Given the description of an element on the screen output the (x, y) to click on. 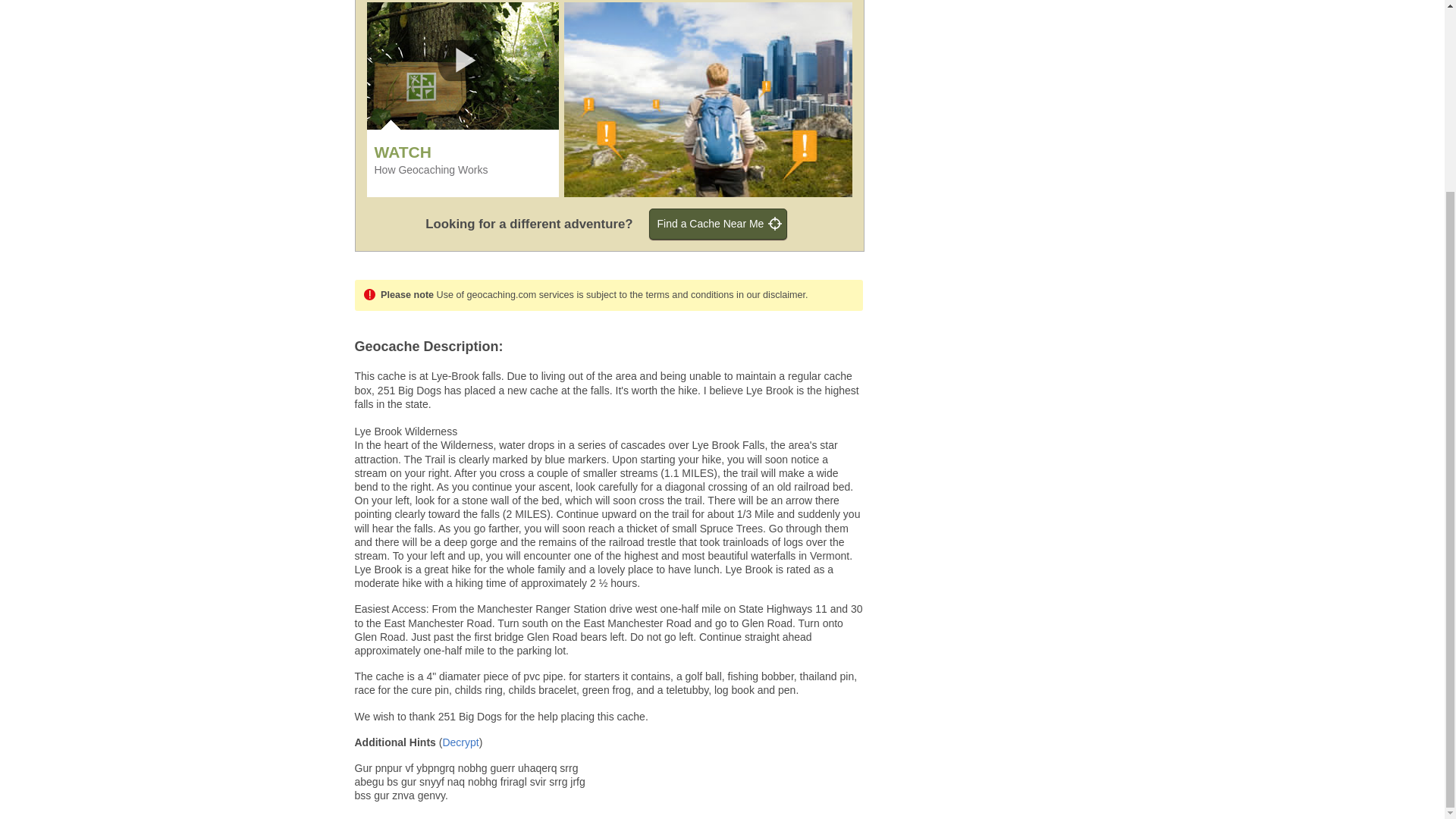
Decrypt (460, 742)
in our disclaimer (770, 294)
Expand Play Video (466, 60)
Find a Cache Near Me (718, 223)
Read our disclaimer (770, 294)
Find a Cache Near Me (718, 223)
Find a Cache Near Me (718, 223)
